Given the description of an element on the screen output the (x, y) to click on. 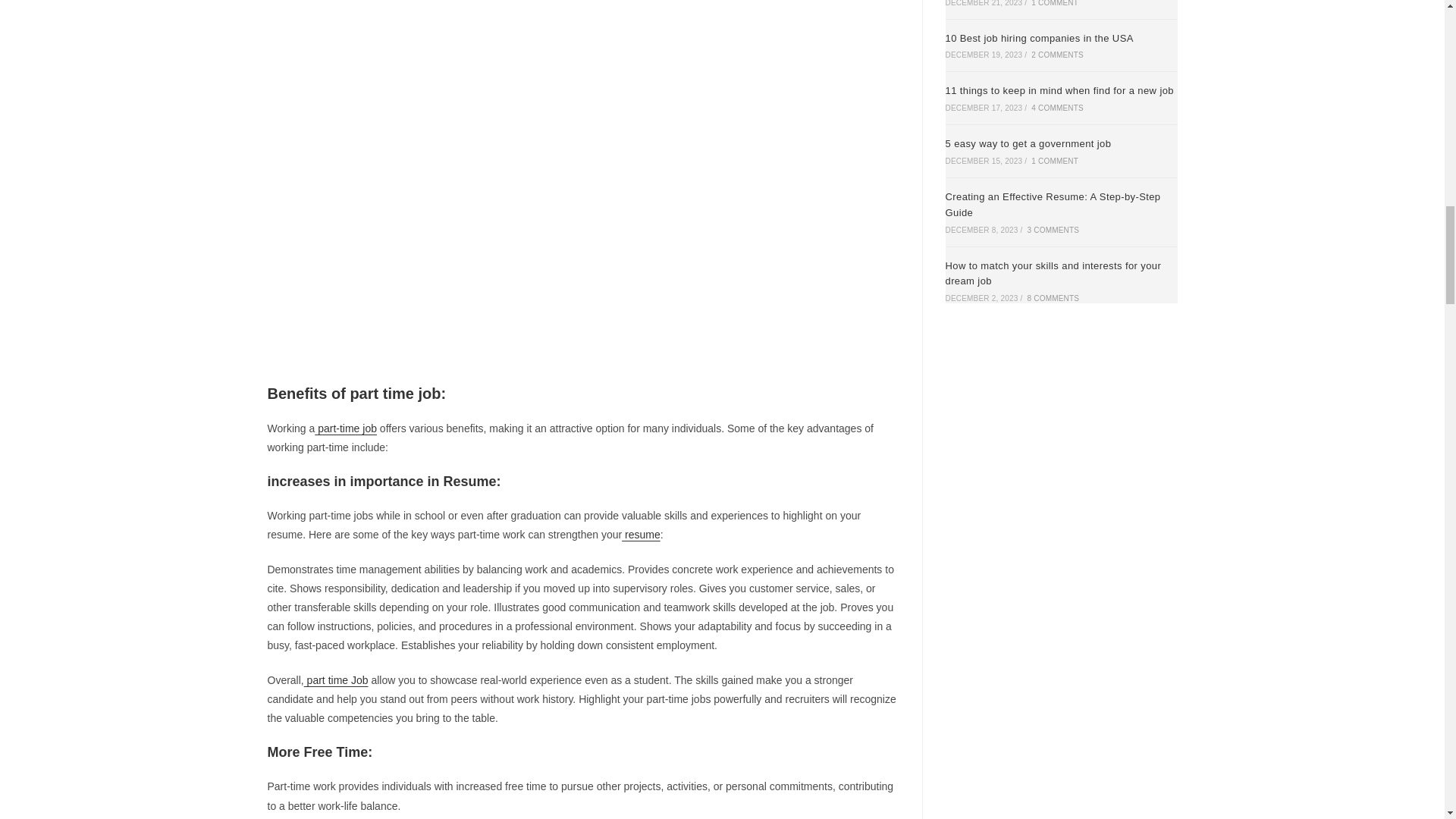
resume (641, 534)
part-time job (345, 428)
